Given the description of an element on the screen output the (x, y) to click on. 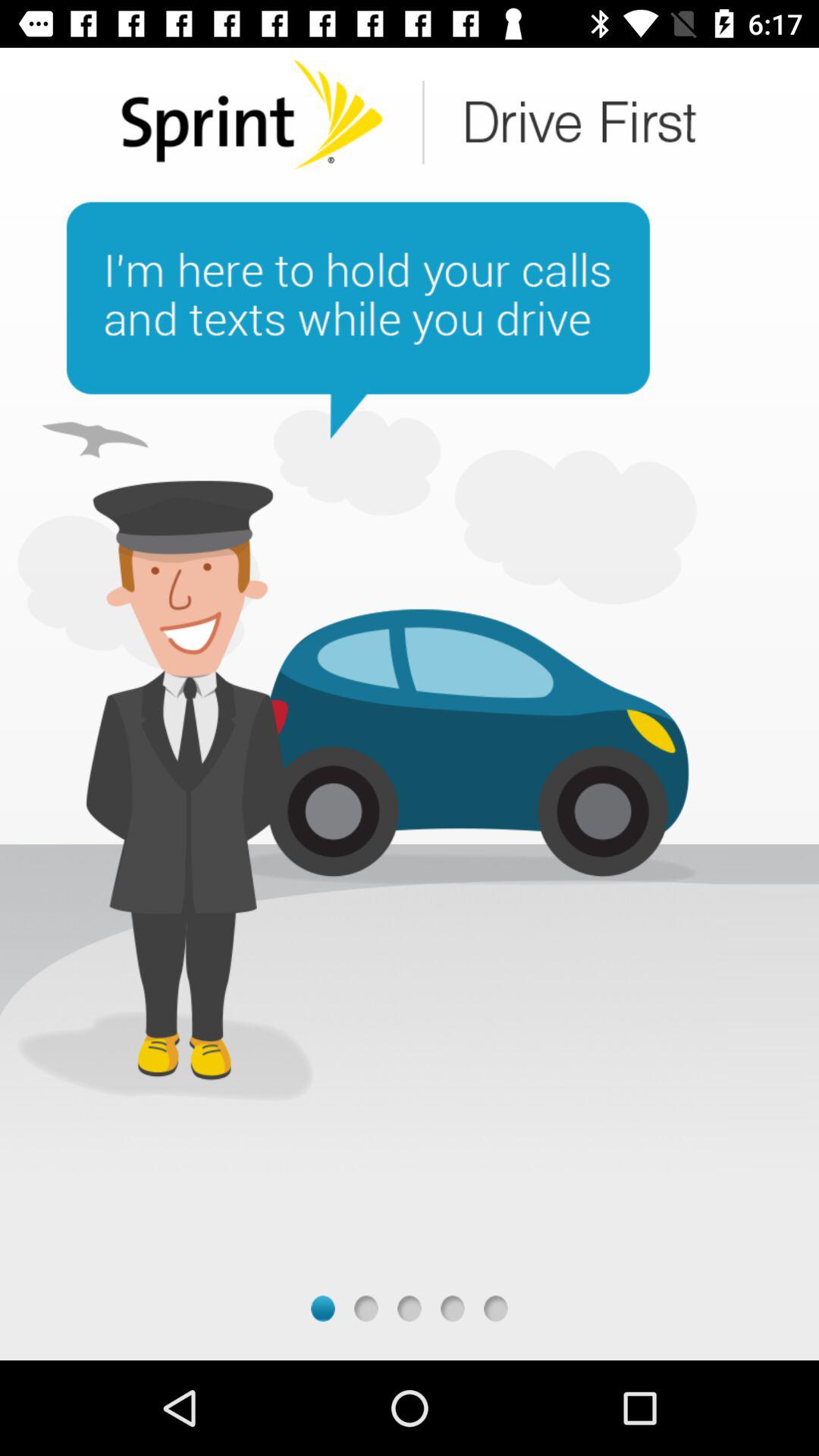
next page (452, 1308)
